Given the description of an element on the screen output the (x, y) to click on. 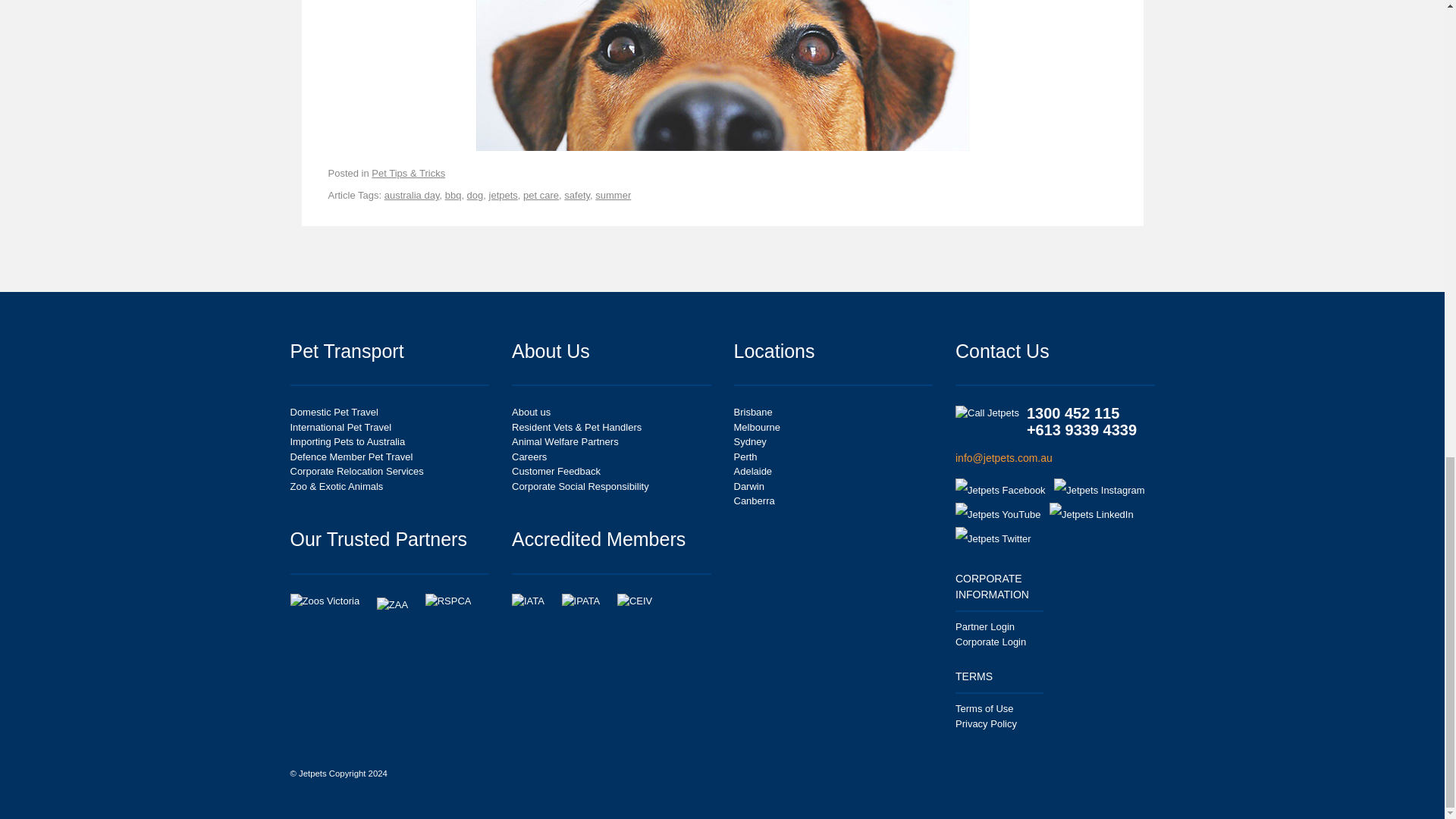
IPATA (588, 604)
RSPCA (455, 604)
ZAA (399, 604)
IATA (535, 604)
Zoos Victoria (331, 604)
CEIV (641, 604)
